Given the description of an element on the screen output the (x, y) to click on. 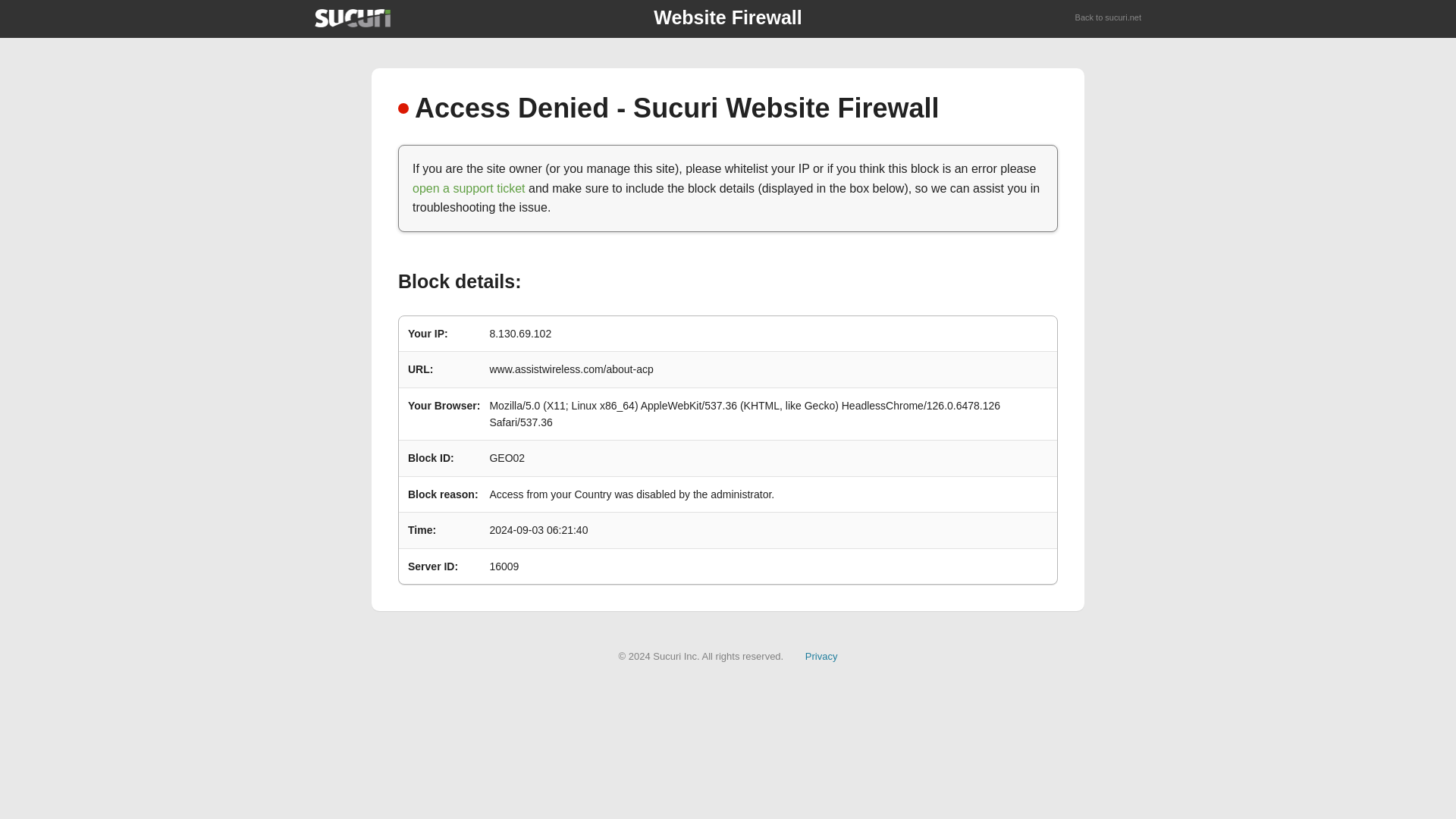
open a support ticket (468, 187)
Back to sucuri.net (1108, 18)
Privacy (821, 655)
